Given the description of an element on the screen output the (x, y) to click on. 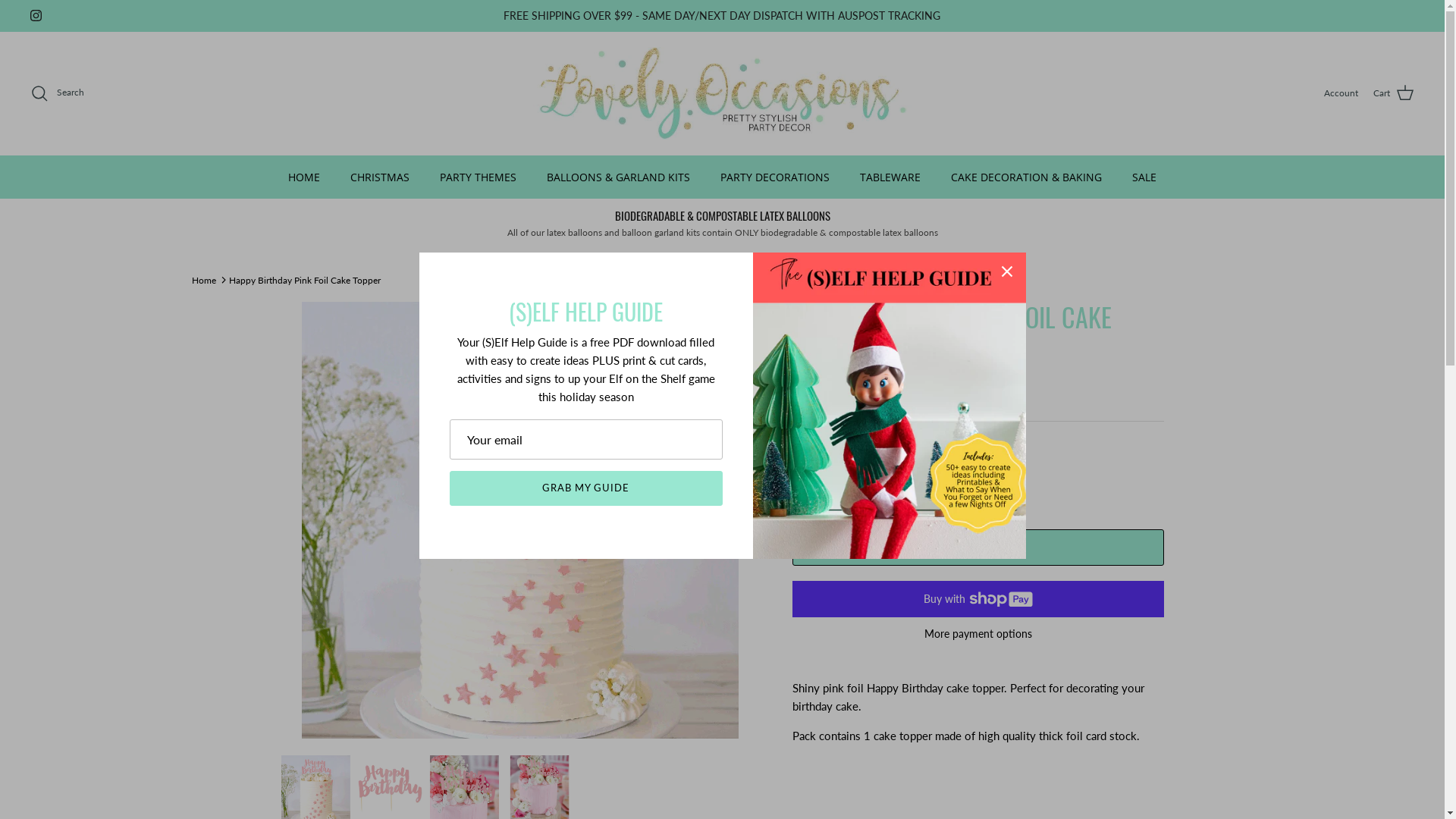
CAKE DECORATION & BAKING Element type: text (1026, 176)
Happy Birthday Pink Foil Cake Topper Element type: text (304, 279)
BALLOONS & GARLAND KITS Element type: text (618, 176)
Minus Element type: text (809, 480)
Cart Element type: text (1393, 93)
PARTY THEMES Element type: text (478, 176)
Account Element type: text (1341, 92)
HOME Element type: text (303, 176)
Lovely Occasions Element type: hover (721, 93)
Search Element type: text (57, 93)
RIGHT Element type: text (741, 519)
PARTY DECORATIONS Element type: text (774, 176)
TABLEWARE Element type: text (890, 176)
More payment options Element type: text (977, 633)
CHRISTMAS Element type: text (379, 176)
SALE Element type: text (1144, 176)
Plus Element type: text (897, 480)
Instagram Element type: text (35, 15)
Home Element type: text (203, 279)
ADD TO CART Element type: text (977, 547)
GRAB MY GUIDE Element type: text (584, 487)
